Given the description of an element on the screen output the (x, y) to click on. 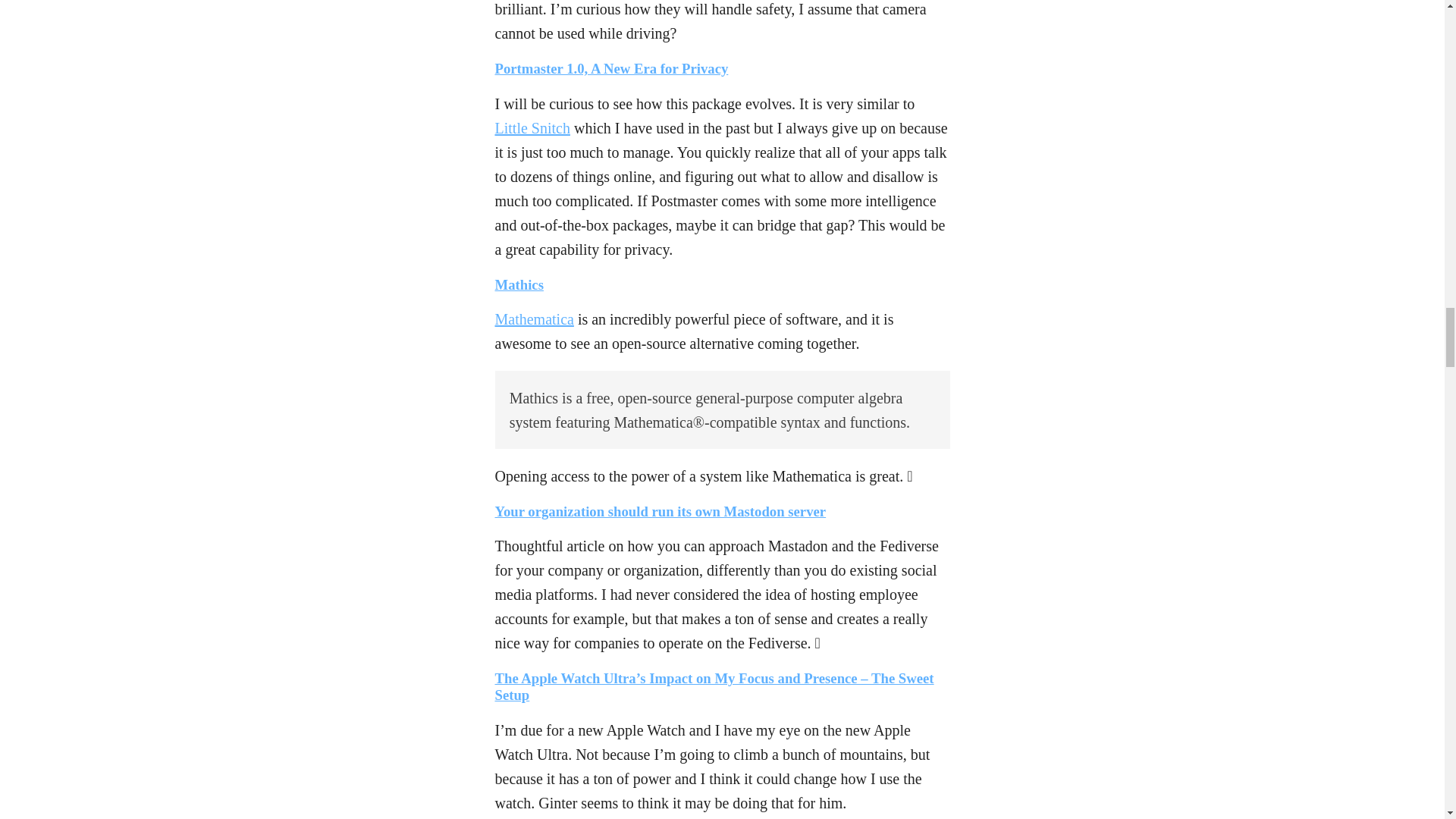
Your organization should run its own Mastodon server (660, 511)
Portmaster 1.0, A New Era for Privacy (611, 68)
Little Snitch (532, 127)
Mathematica (534, 319)
Mathics (519, 284)
